Given the description of an element on the screen output the (x, y) to click on. 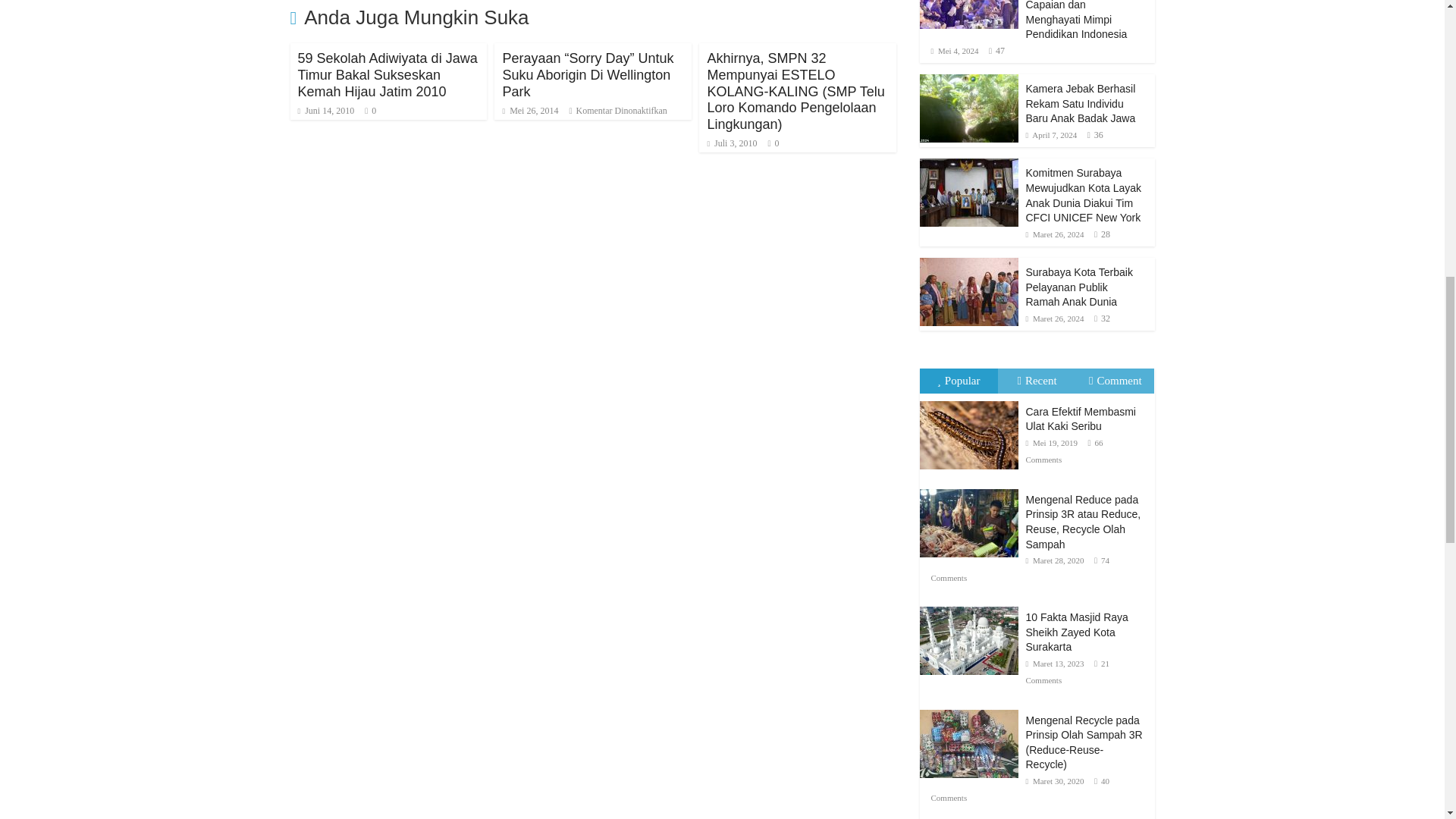
17:47 (325, 110)
20:00 (529, 110)
Mei 26, 2014 (529, 110)
Juli 3, 2010 (731, 143)
Juni 14, 2010 (325, 110)
